Given the description of an element on the screen output the (x, y) to click on. 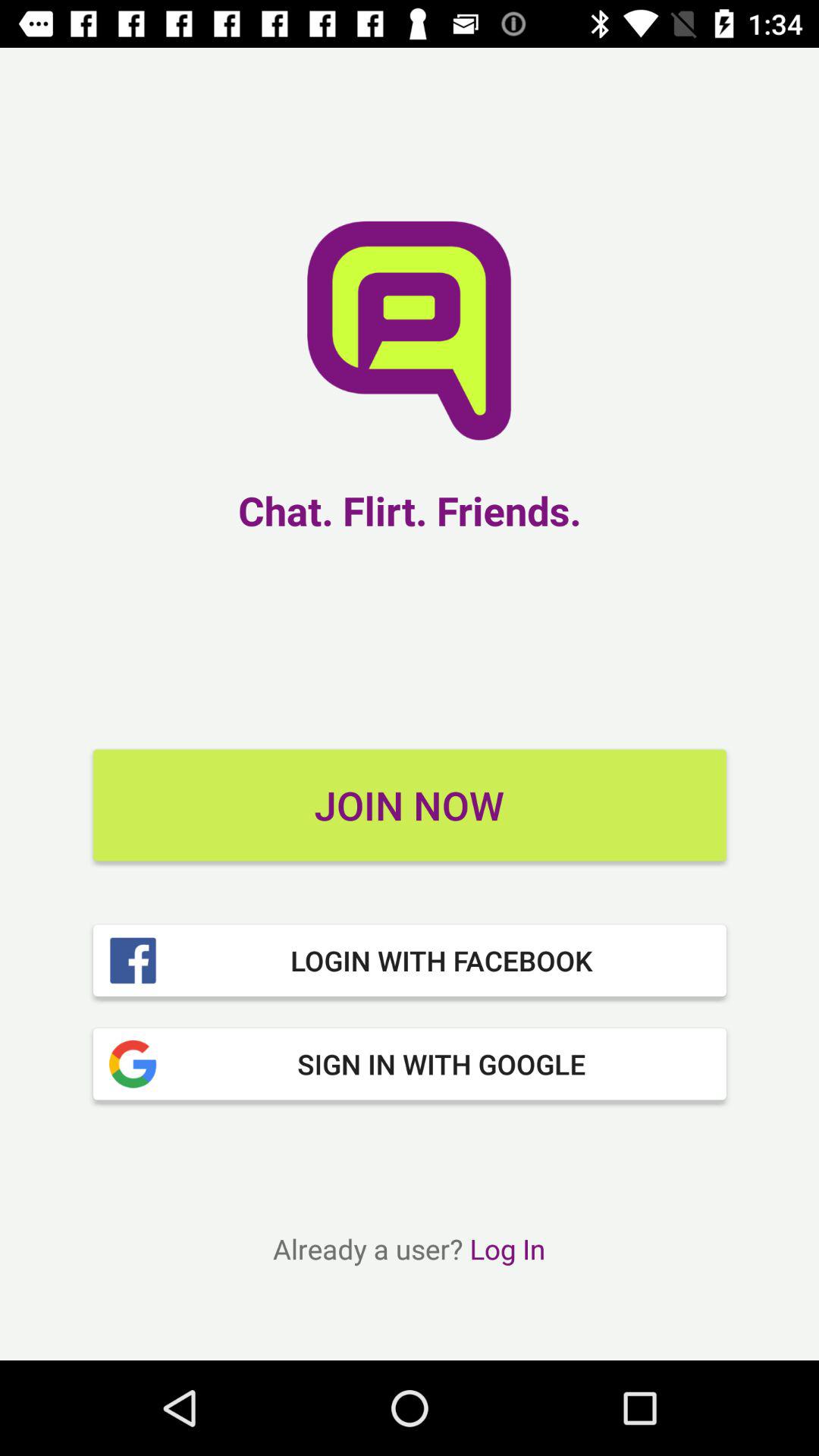
open item above login with facebook icon (409, 805)
